Given the description of an element on the screen output the (x, y) to click on. 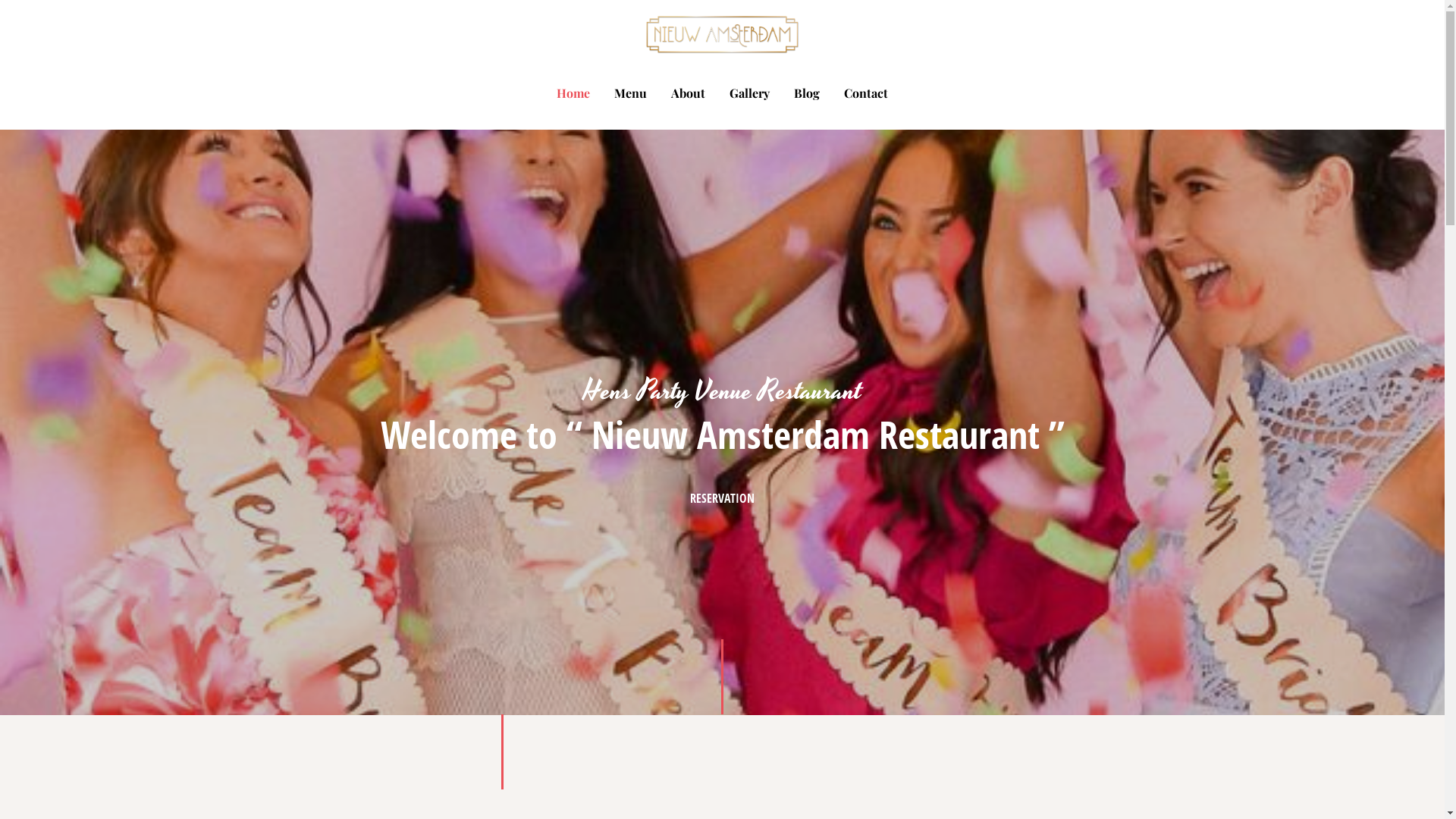
Gallery Element type: text (749, 93)
Home Element type: text (573, 93)
Contact Element type: text (865, 93)
Menu Element type: text (630, 93)
Blog Element type: text (806, 93)
About Element type: text (687, 93)
RESERVATION Element type: text (721, 498)
